Given the description of an element on the screen output the (x, y) to click on. 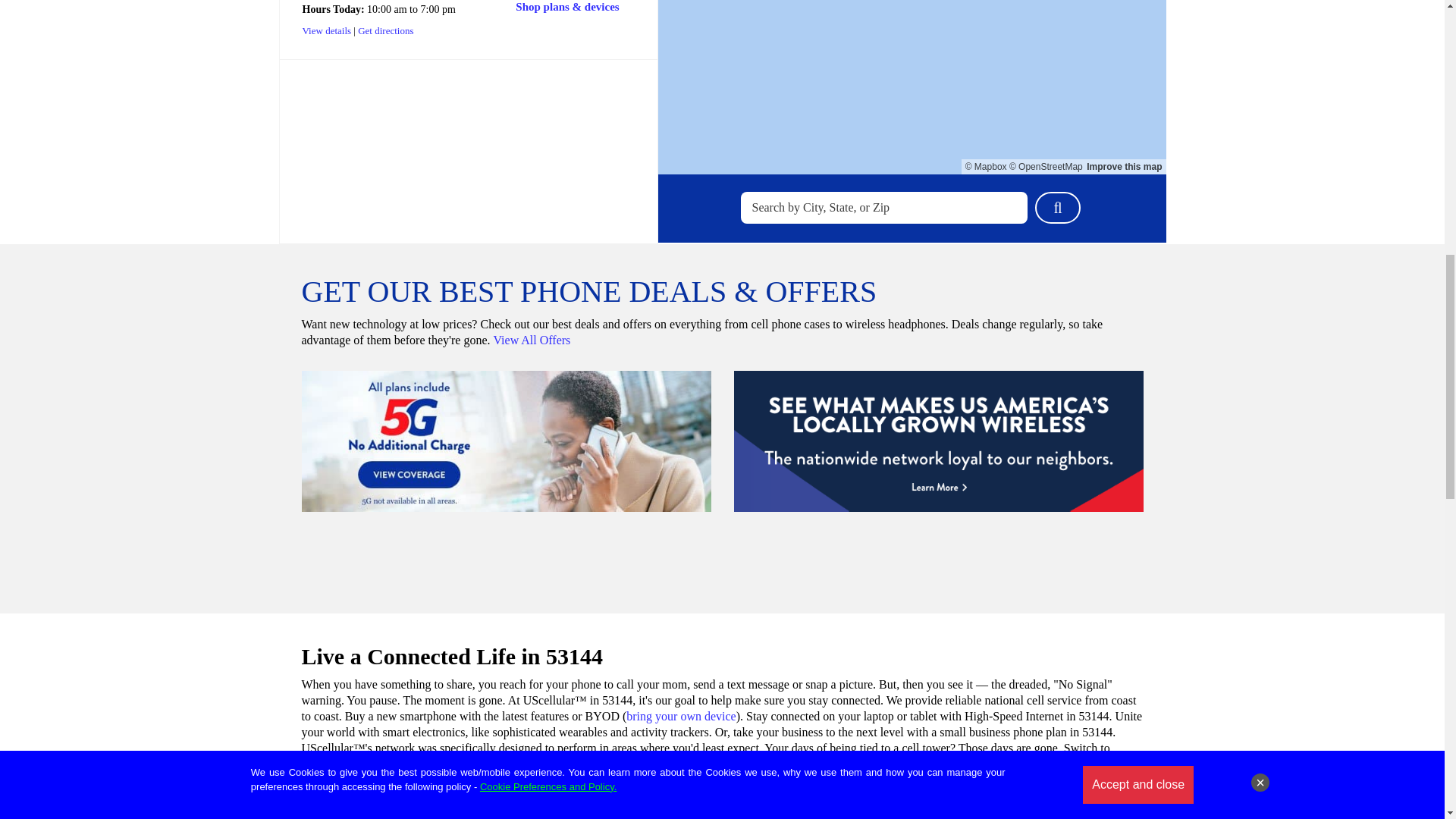
OpenStreetMap (1046, 166)
Mapbox (986, 166)
